Given the description of an element on the screen output the (x, y) to click on. 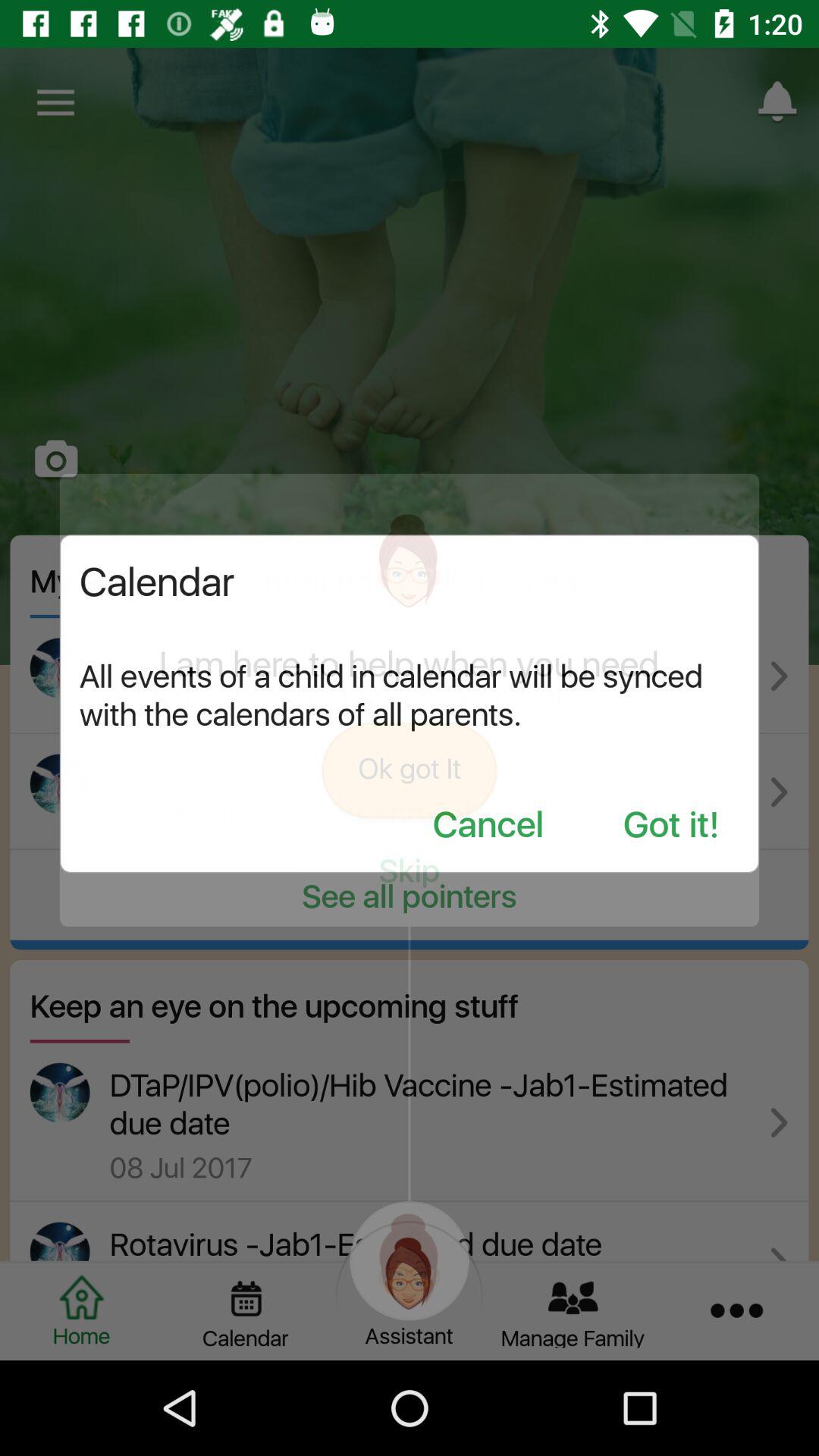
press item next to got it! icon (487, 826)
